Given the description of an element on the screen output the (x, y) to click on. 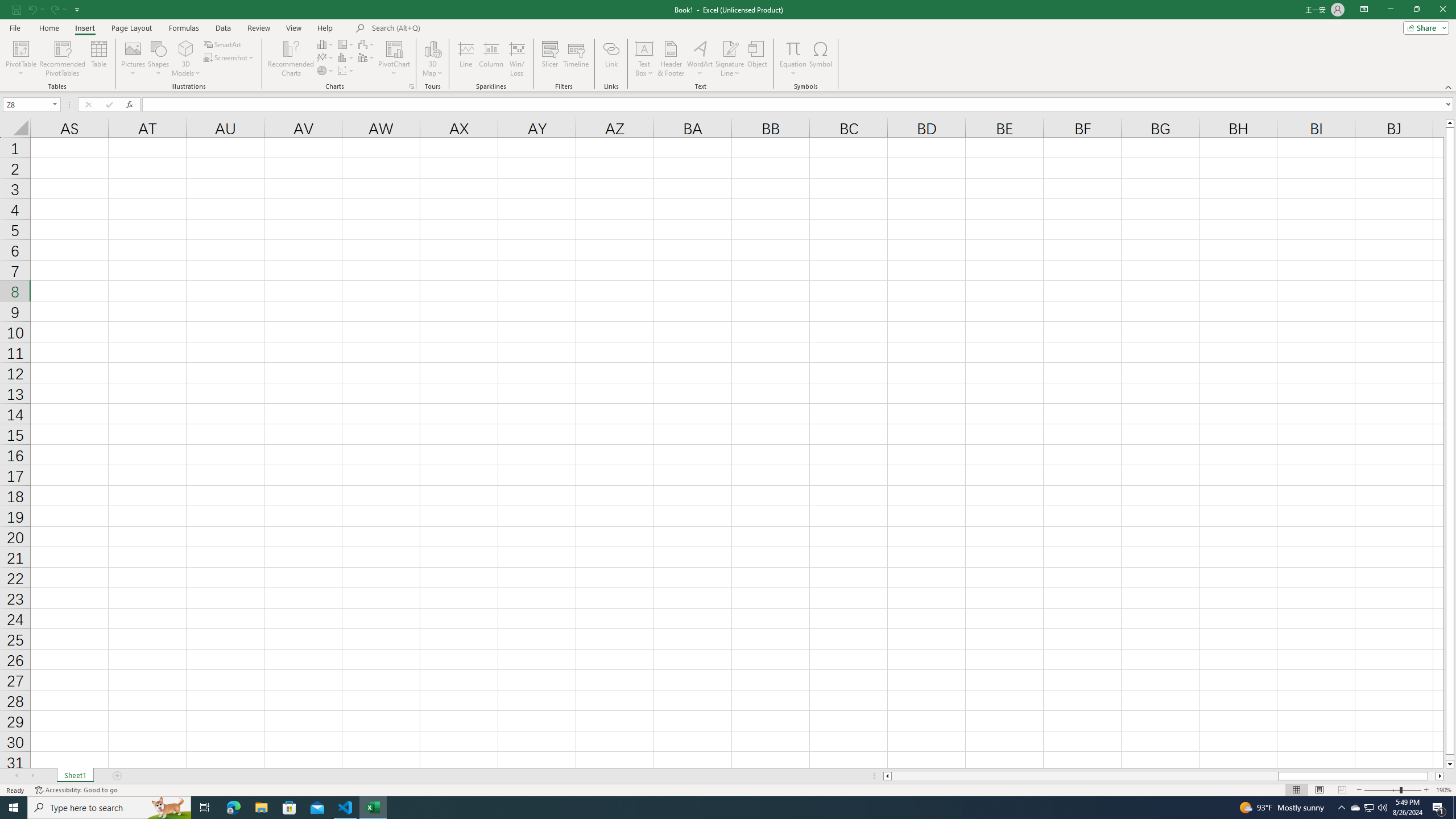
Pictures (133, 58)
Recommended Charts (411, 85)
Table (98, 58)
Screenshot (229, 56)
PivotChart (394, 58)
